Given the description of an element on the screen output the (x, y) to click on. 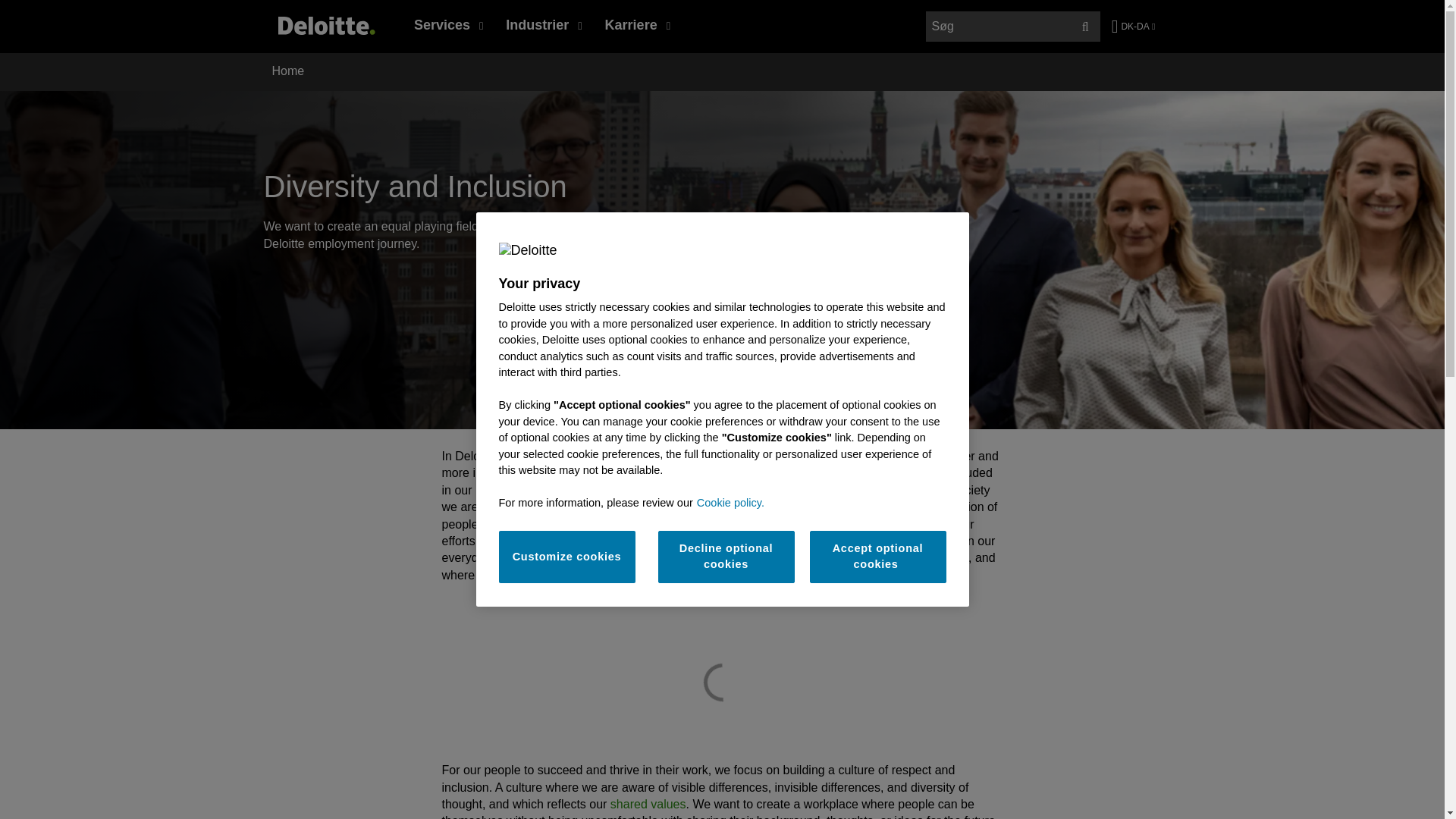
Industrier (543, 24)
search (1013, 26)
Services (449, 24)
Deloitte Danmark (326, 31)
